Given the description of an element on the screen output the (x, y) to click on. 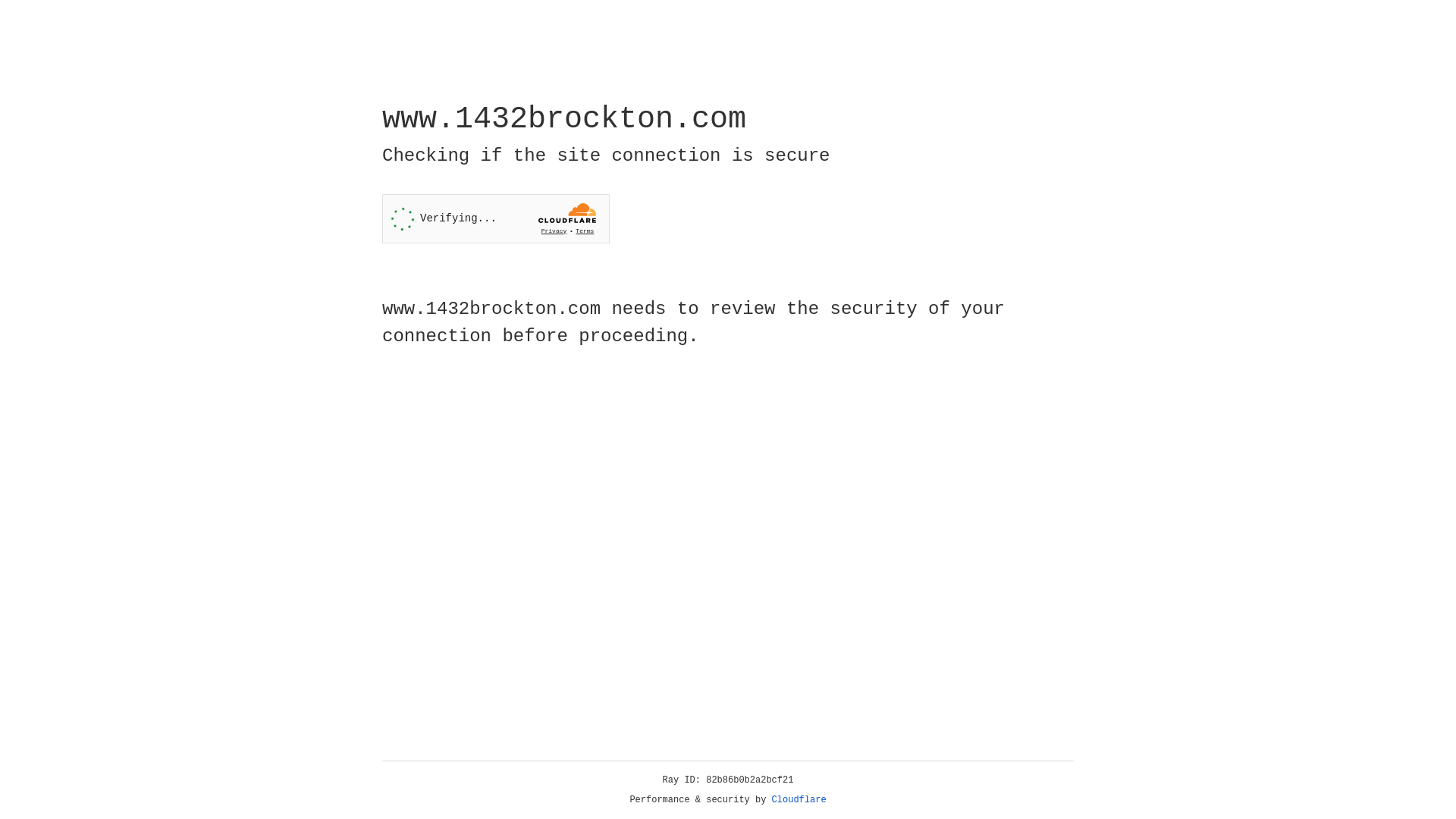
Widget containing a Cloudflare security challenge Element type: hover (495, 218)
Cloudflare Element type: text (798, 799)
